Given the description of an element on the screen output the (x, y) to click on. 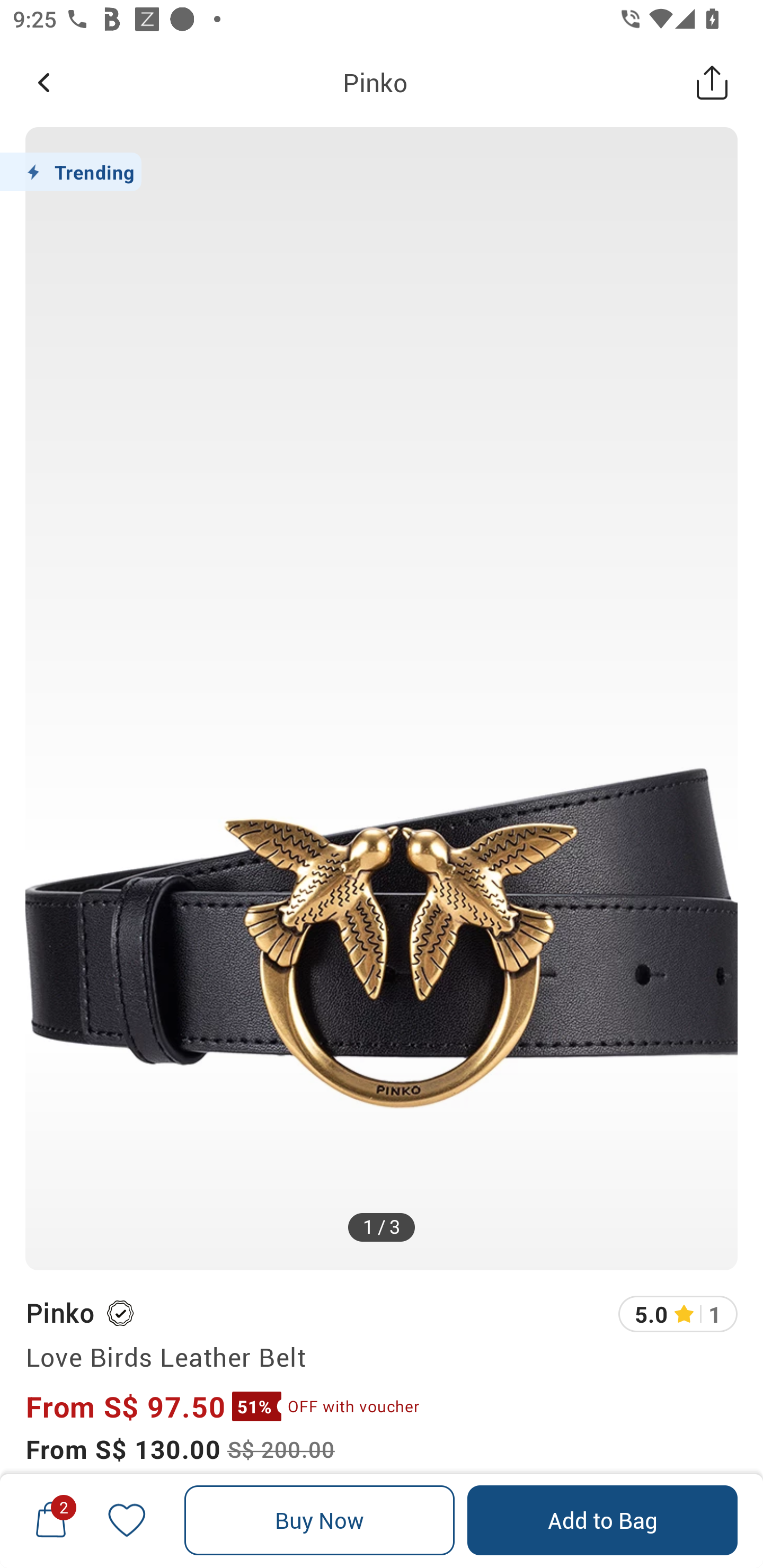
Pinko (375, 82)
Share this Product (711, 82)
Pinko (59, 1312)
5.0 1 (677, 1313)
Buy Now (319, 1519)
Add to Bag (601, 1519)
2 (50, 1520)
